Given the description of an element on the screen output the (x, y) to click on. 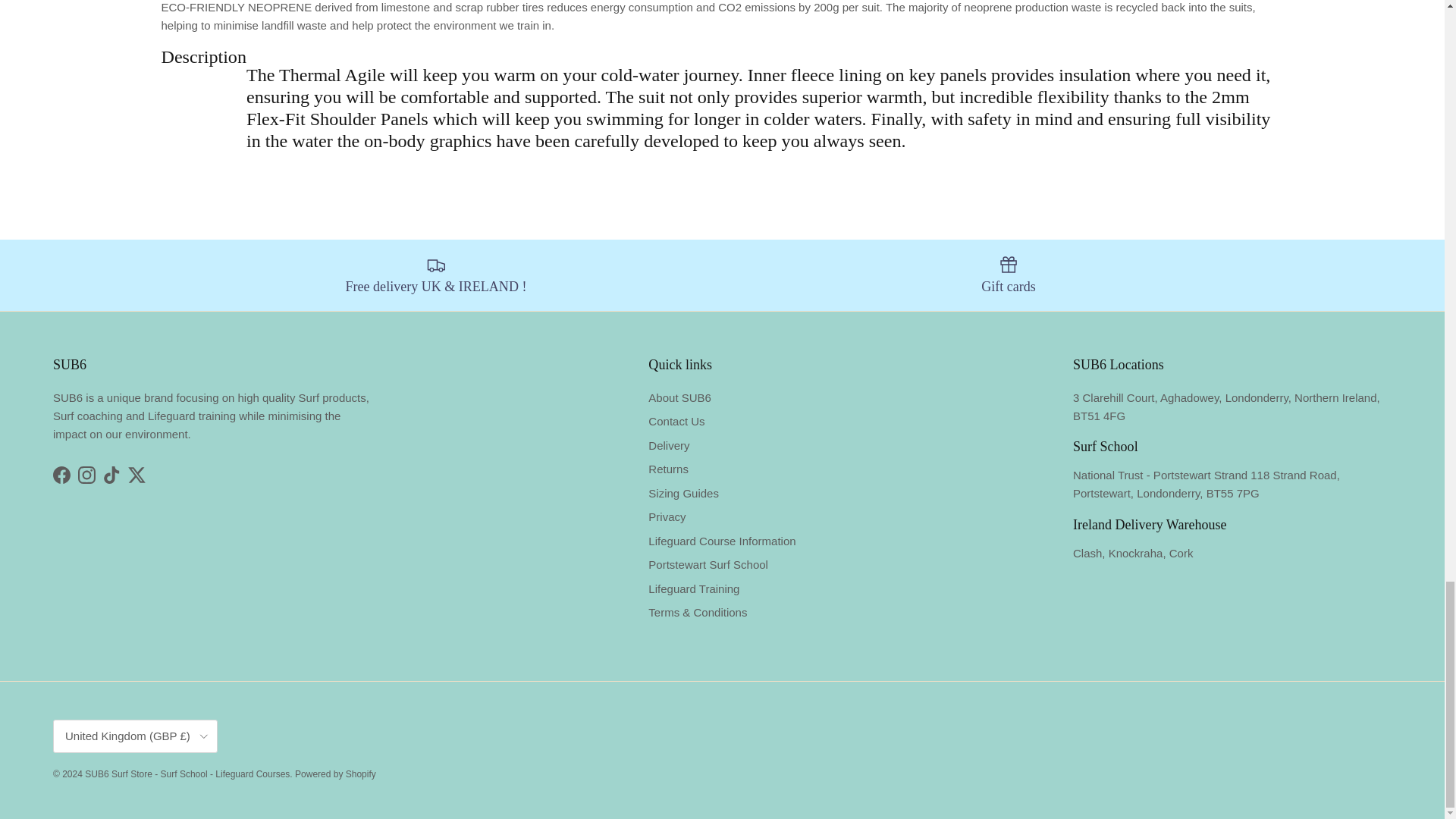
SUB6 Surf Store - Surf School - Lifeguard Courses on Twitter (136, 475)
SUB6 Surf Store - Surf School - Lifeguard Courses on TikTok (111, 475)
